Given the description of an element on the screen output the (x, y) to click on. 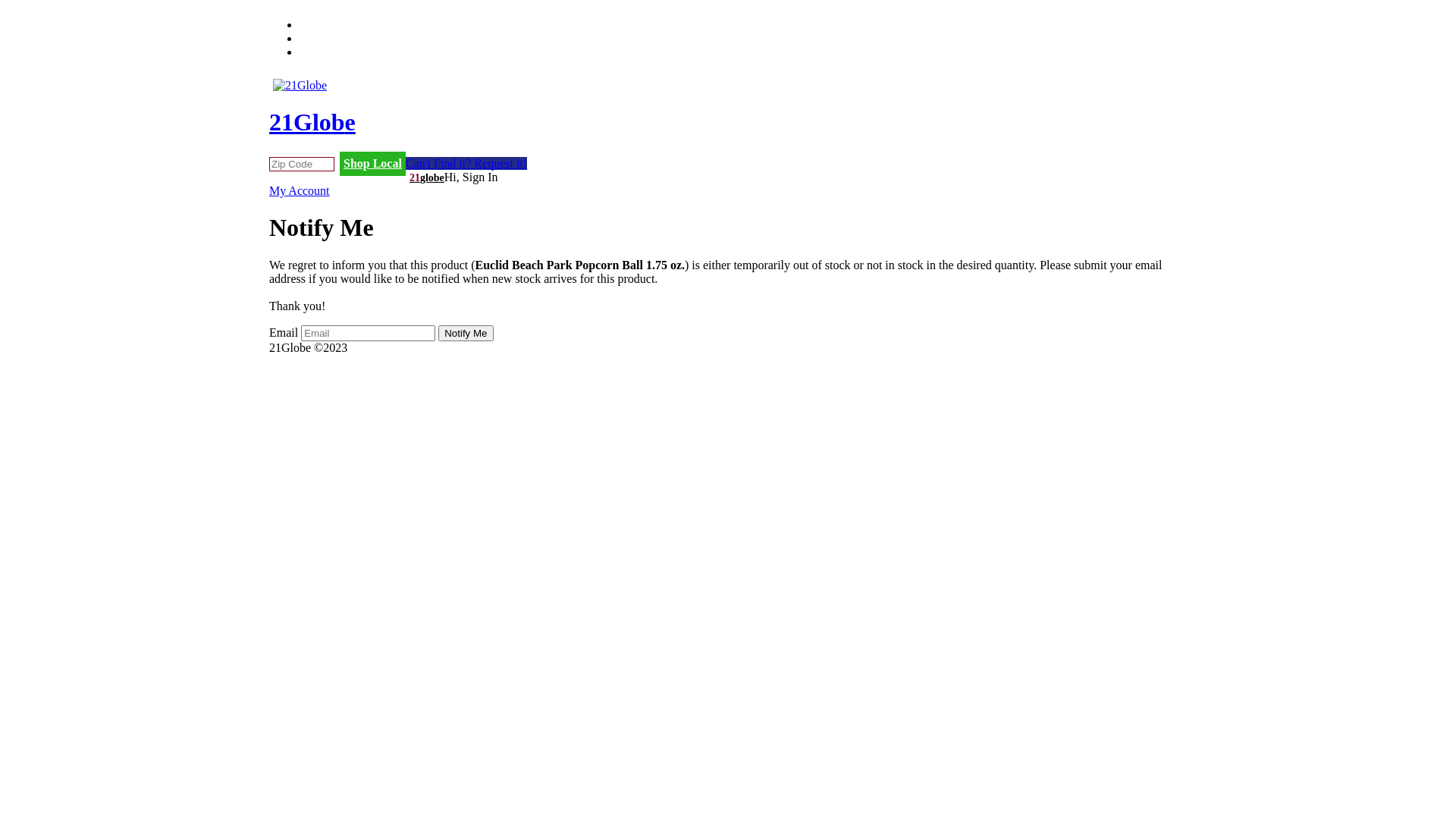
Shop Local Element type: text (372, 163)
Can't Find it? Request it! Element type: text (466, 162)
Notify Me Element type: hover (465, 333)
Please enter a valid email address Element type: hover (368, 333)
21globe Element type: text (426, 177)
21Globe Element type: text (727, 107)
Notify Me Element type: text (465, 333)
My Account Element type: text (299, 190)
